Given the description of an element on the screen output the (x, y) to click on. 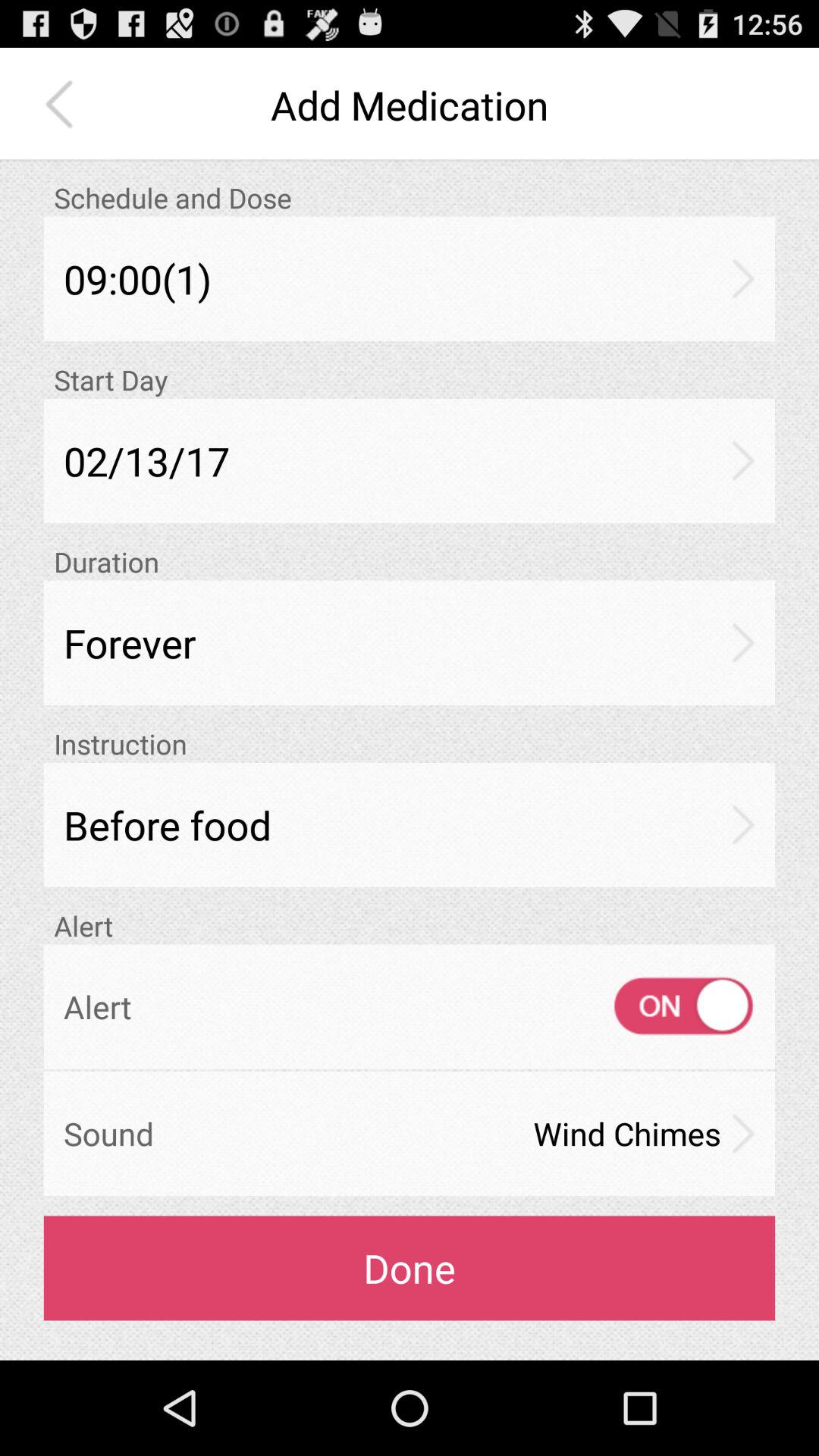
turn off the item at the bottom (409, 1267)
